Given the description of an element on the screen output the (x, y) to click on. 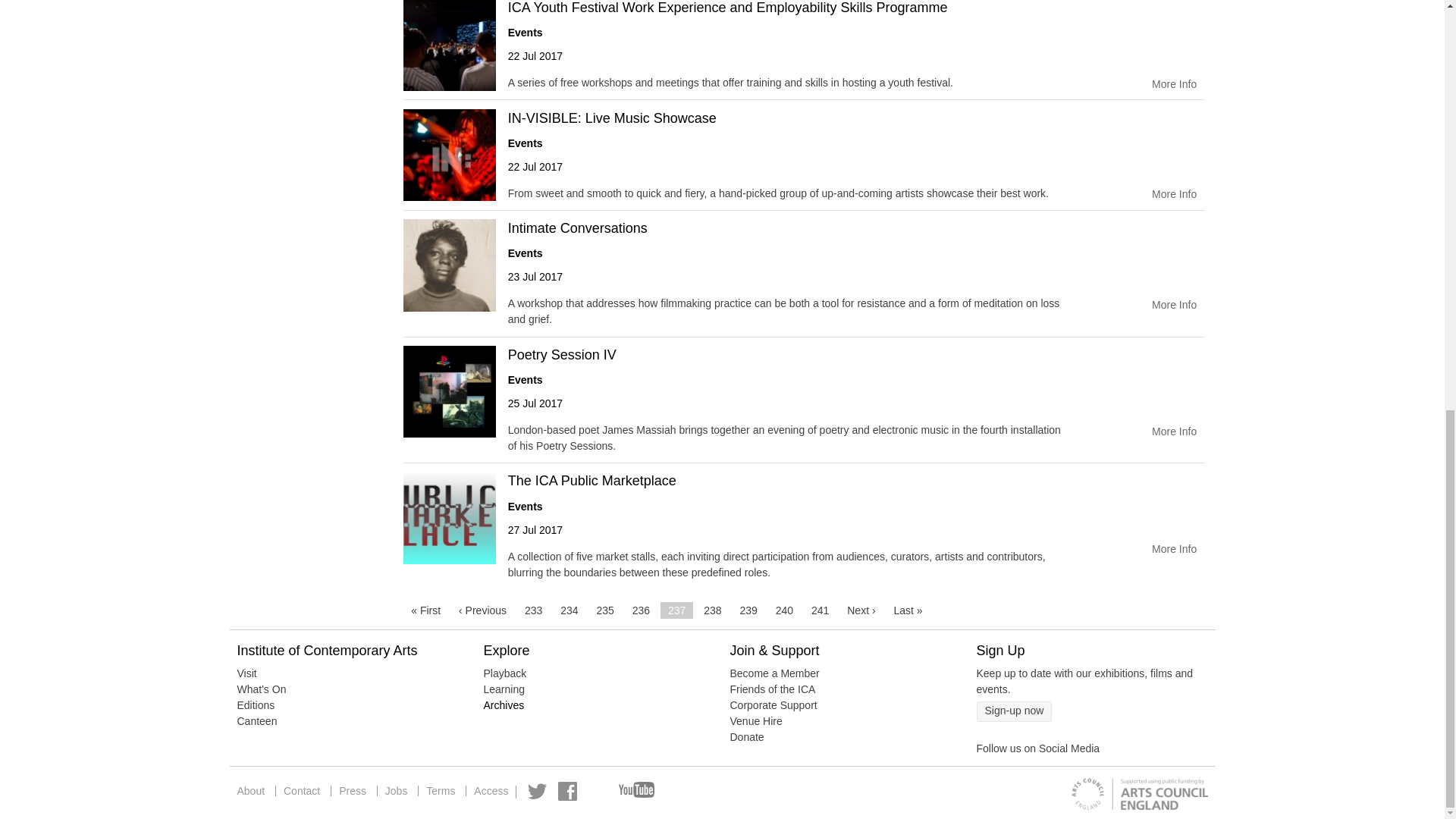
Go to page 240 (784, 610)
Go to first page (425, 610)
More Info (1173, 84)
More Info (1173, 194)
More Info (1173, 305)
Go to page 233 (533, 610)
Go to page 238 (712, 610)
Go to page 234 (569, 610)
More Info (1173, 432)
